Given the description of an element on the screen output the (x, y) to click on. 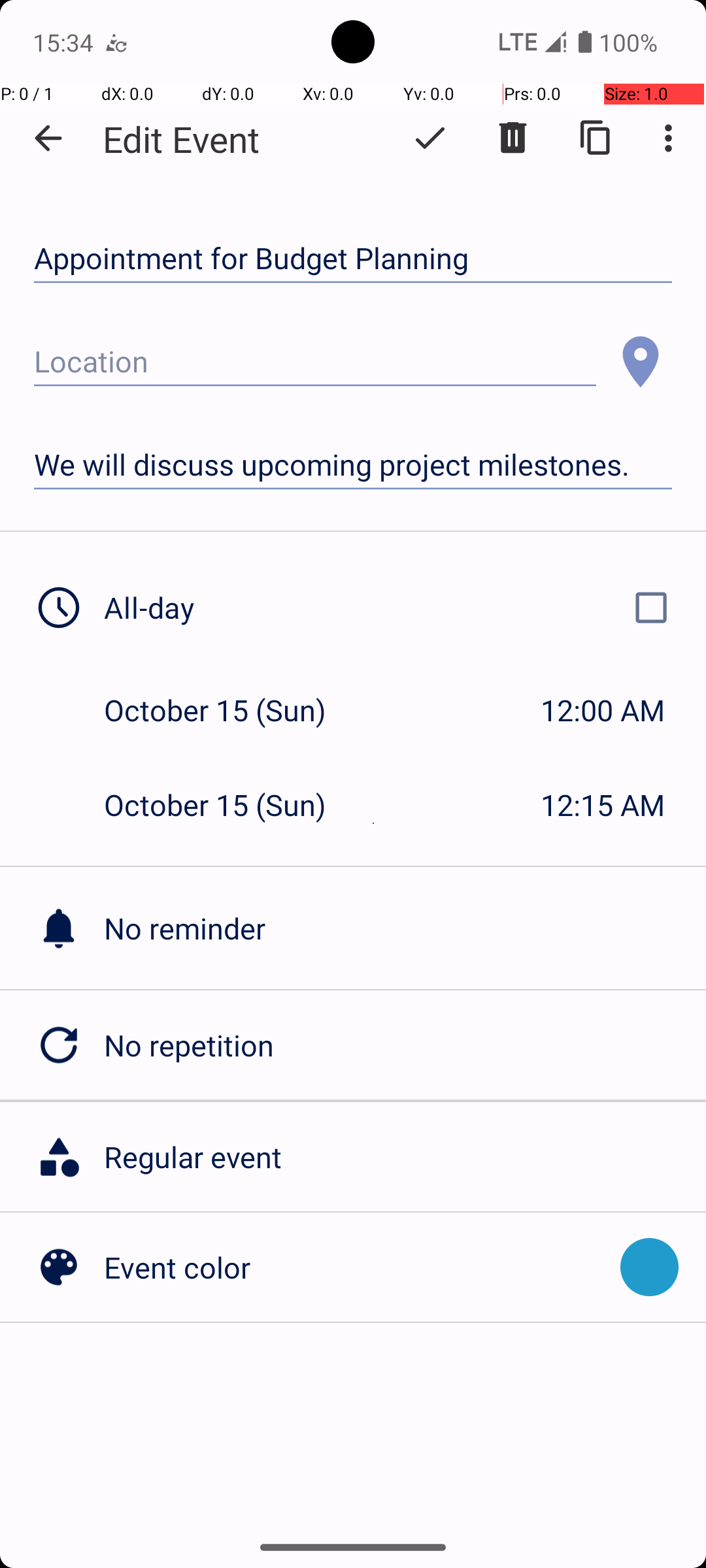
We will discuss upcoming project milestones. Element type: android.widget.EditText (352, 465)
12:00 AM Element type: android.widget.TextView (602, 709)
12:15 AM Element type: android.widget.TextView (602, 804)
